Given the description of an element on the screen output the (x, y) to click on. 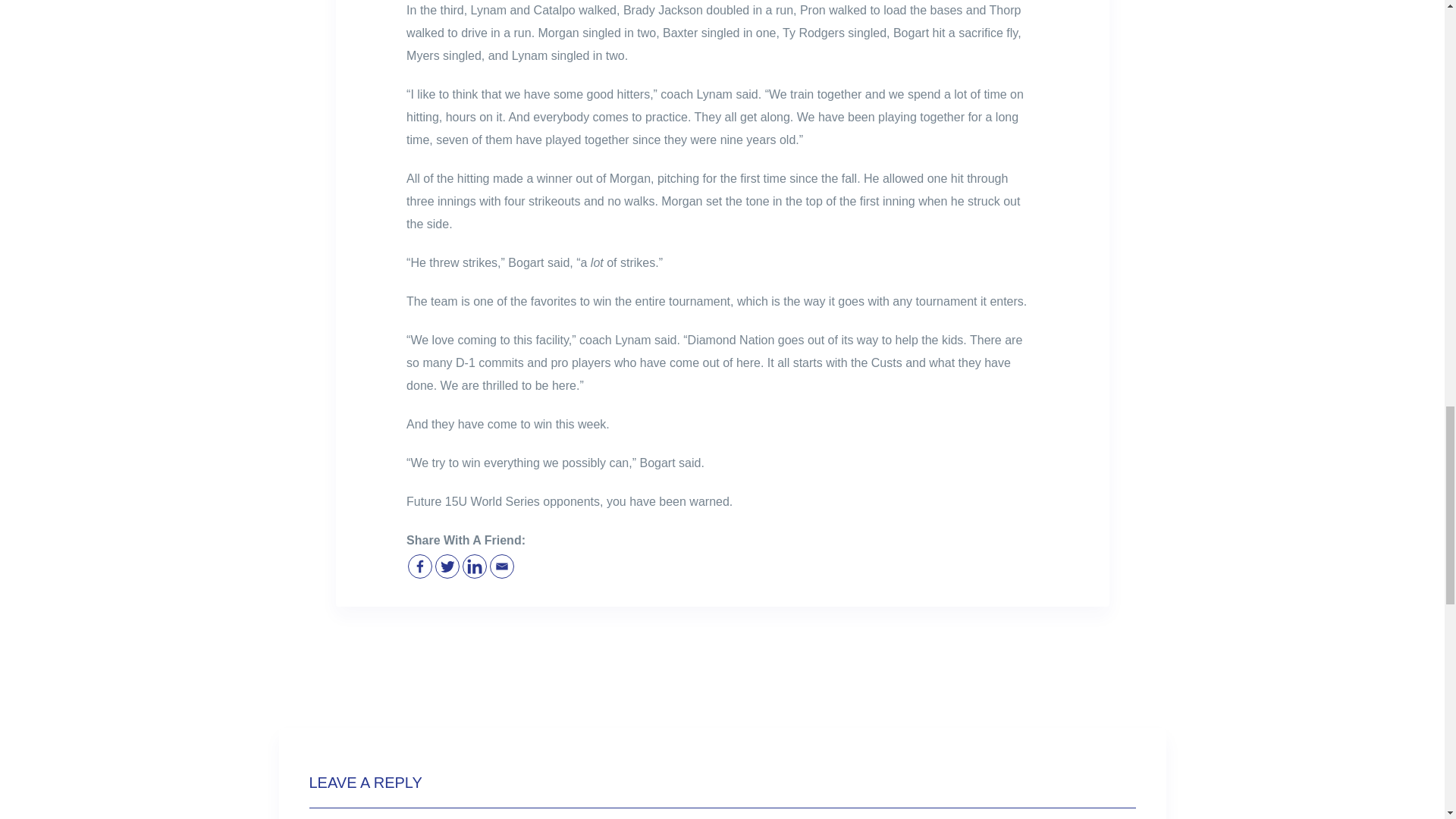
Twitter (447, 566)
Email (501, 566)
Linkedin (474, 566)
Facebook (419, 566)
